Given the description of an element on the screen output the (x, y) to click on. 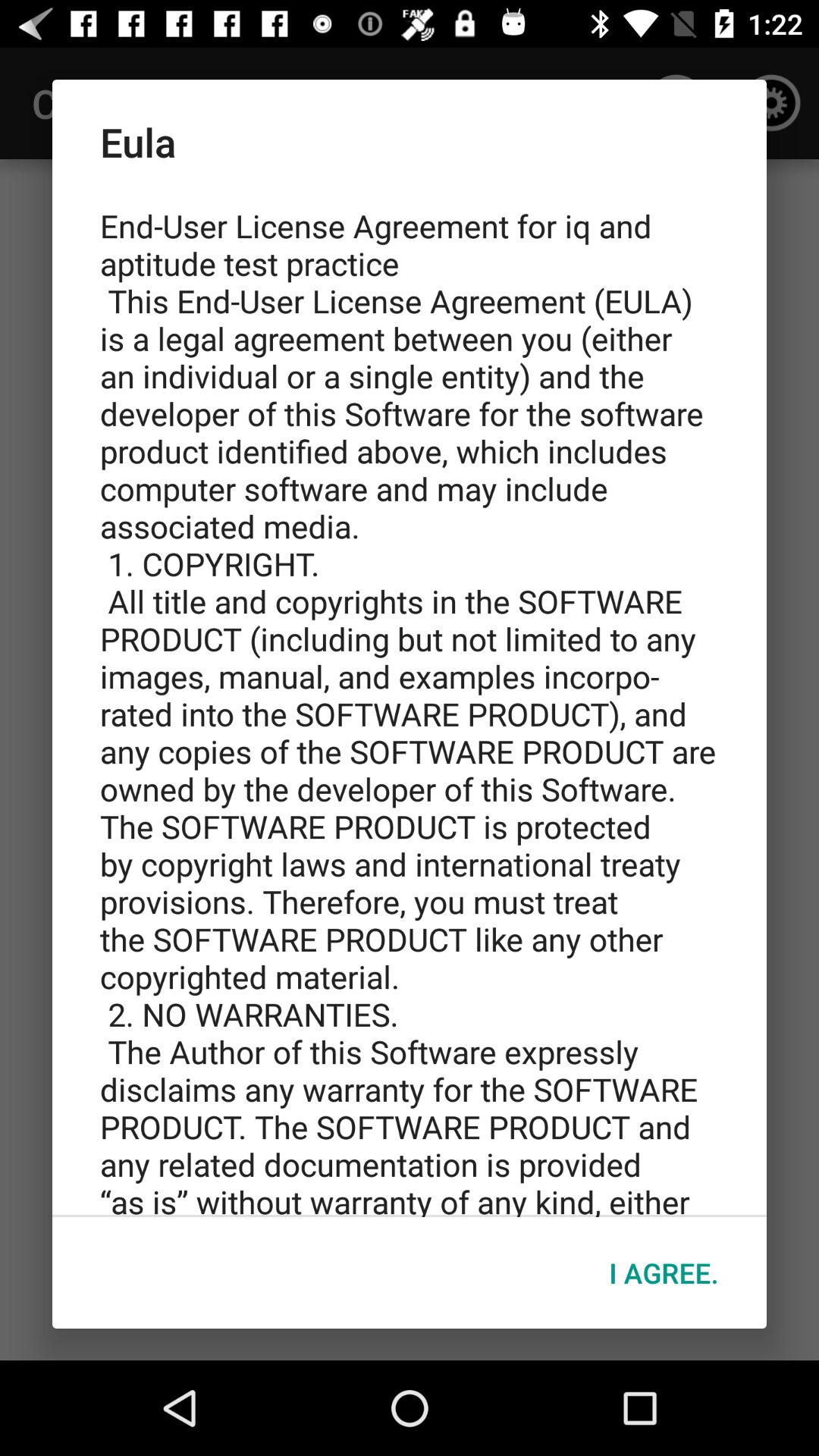
turn off i agree. icon (663, 1272)
